Given the description of an element on the screen output the (x, y) to click on. 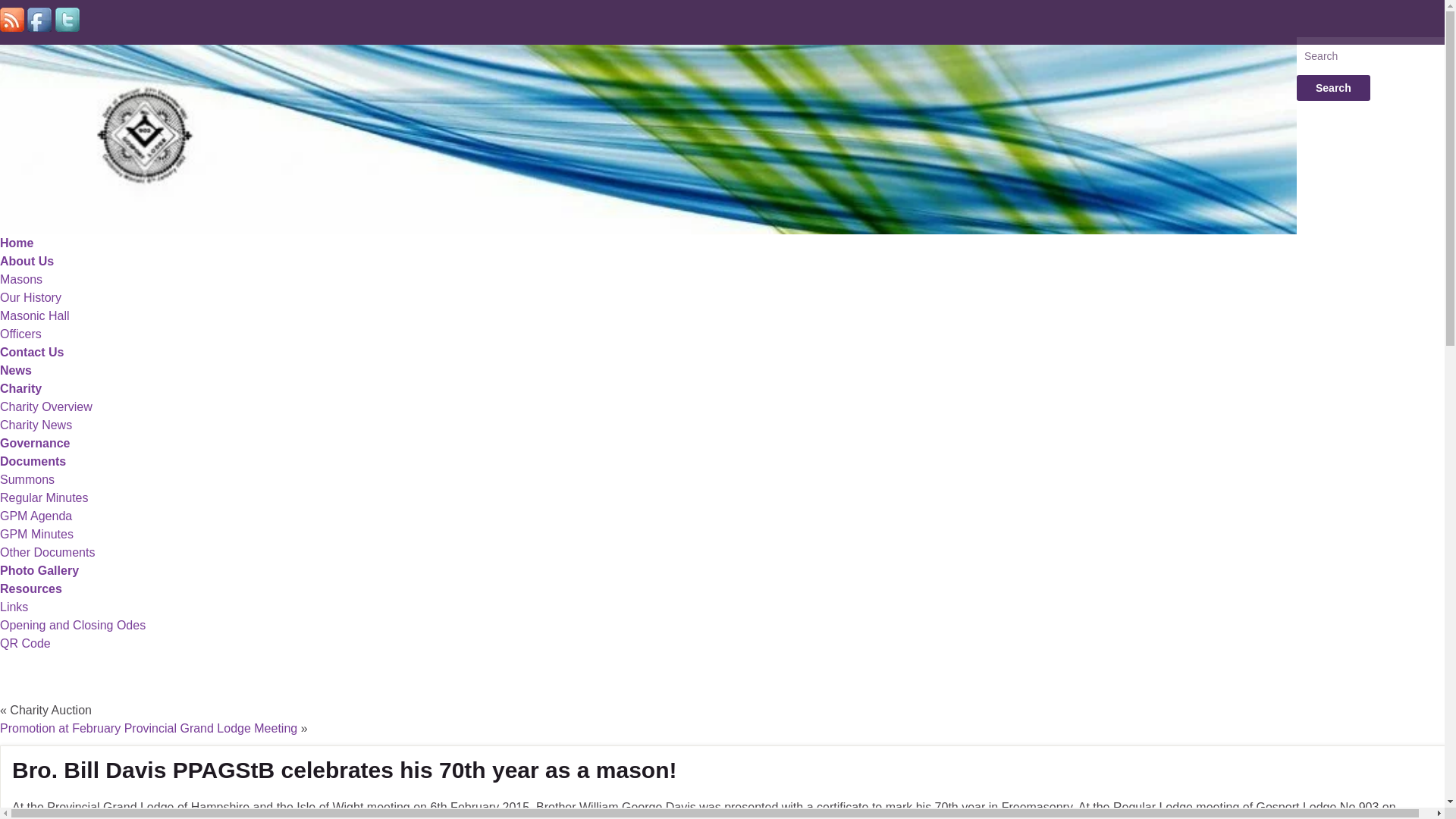
Promotion at February Provincial Grand Lodge Meeting (148, 727)
Our History (30, 297)
Charity News (35, 424)
Charity (21, 388)
Officers (21, 333)
Charity Overview (46, 406)
About Us (26, 260)
Governance (34, 442)
Masonic Hall (34, 315)
Gosport Lodge on Twitter (67, 19)
Documents (32, 461)
Home (16, 242)
Opening and Closing Odes (72, 625)
Resources (31, 588)
GPM Minutes (37, 533)
